Given the description of an element on the screen output the (x, y) to click on. 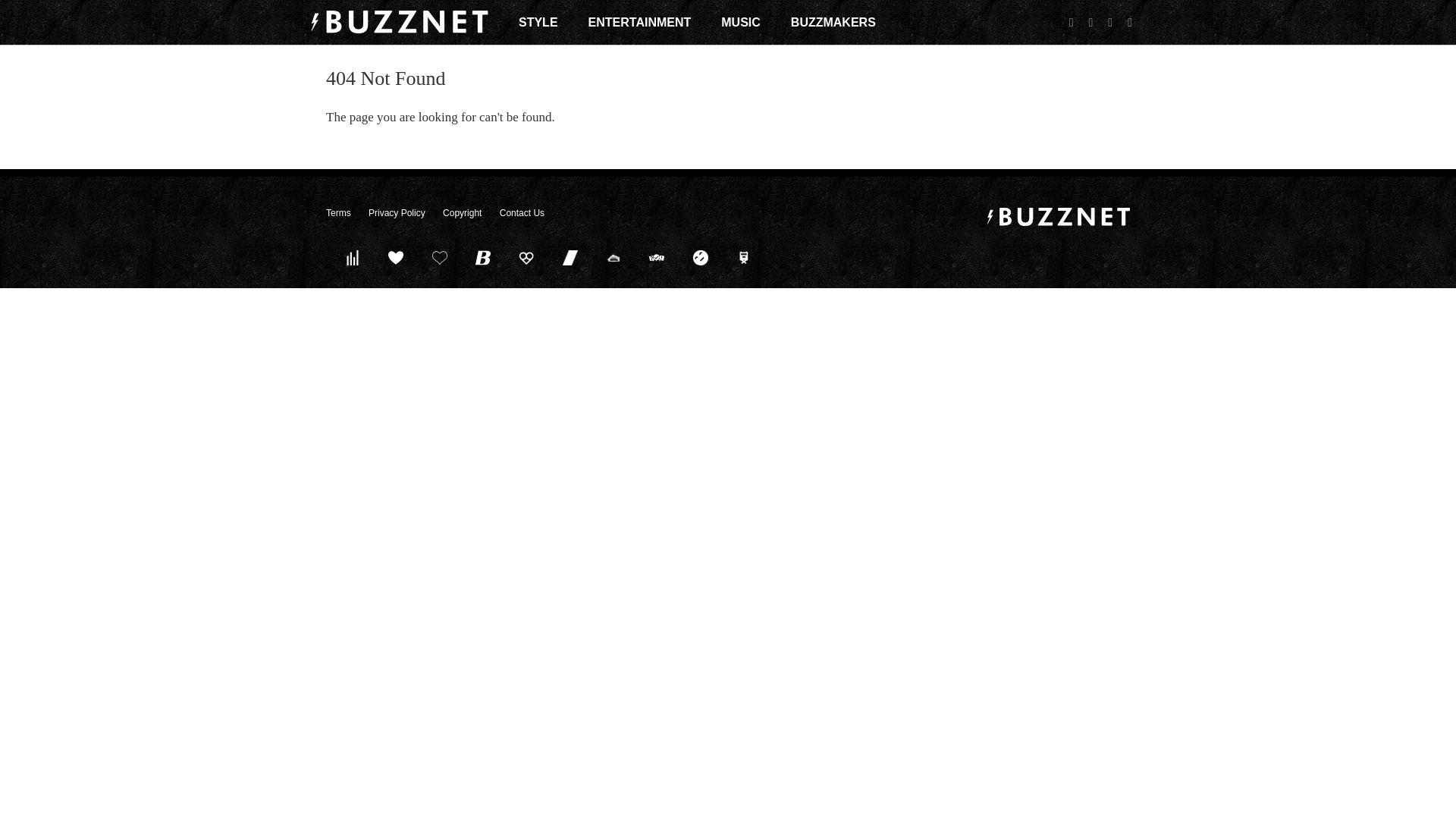
Post Fun (439, 257)
Idolator (395, 257)
ENTERTAINMENT (639, 22)
Privacy Policy (396, 213)
Terms (338, 213)
STYLE (538, 22)
Contact Us (521, 213)
Copyright (461, 213)
Explored Hollywood (743, 257)
Taco Relish (612, 257)
